Given the description of an element on the screen output the (x, y) to click on. 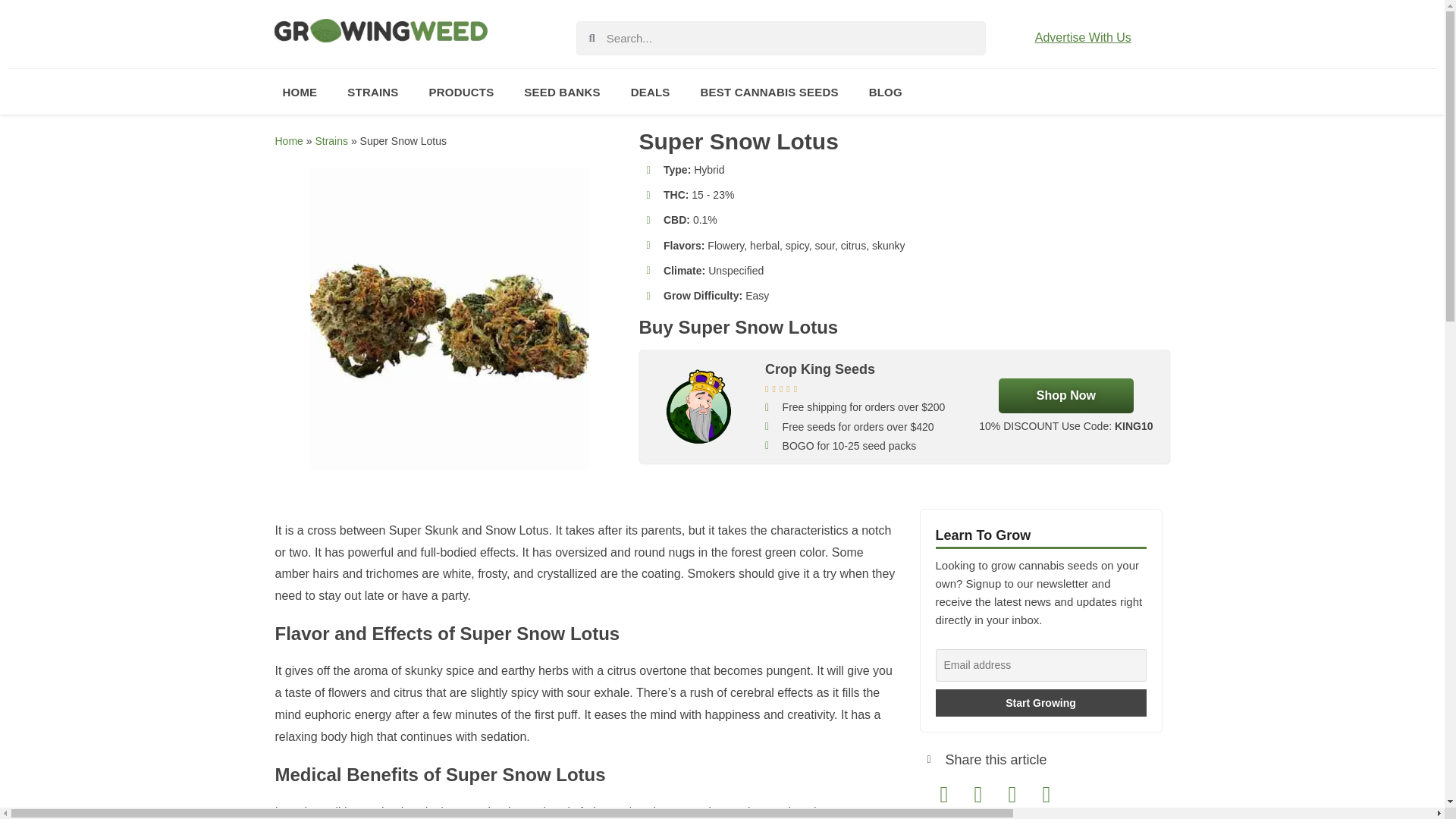
Shop Now (1066, 395)
PRODUCTS (461, 91)
BLOG (885, 91)
STRAINS (372, 91)
BEST CANNABIS SEEDS (769, 91)
HOME (298, 91)
Strains (330, 141)
Advertise With Us (1083, 37)
DEALS (650, 91)
SEED BANKS (561, 91)
